Given the description of an element on the screen output the (x, y) to click on. 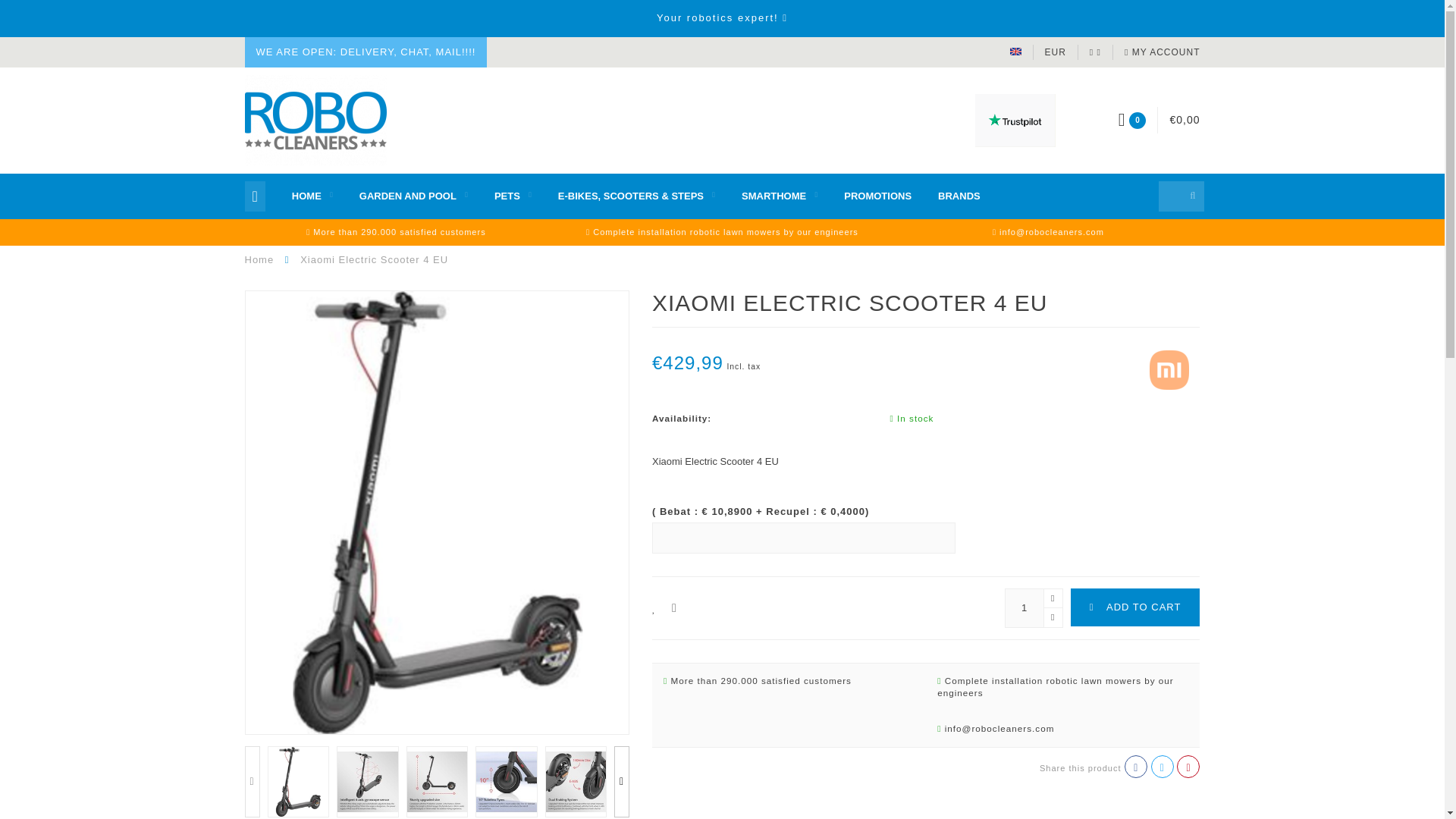
MY ACCOUNT (1161, 51)
EUR (1055, 51)
HOME (312, 196)
Home (258, 259)
Xiaomi (1168, 368)
1 (1034, 607)
GARDEN AND POOL (413, 196)
